Given the description of an element on the screen output the (x, y) to click on. 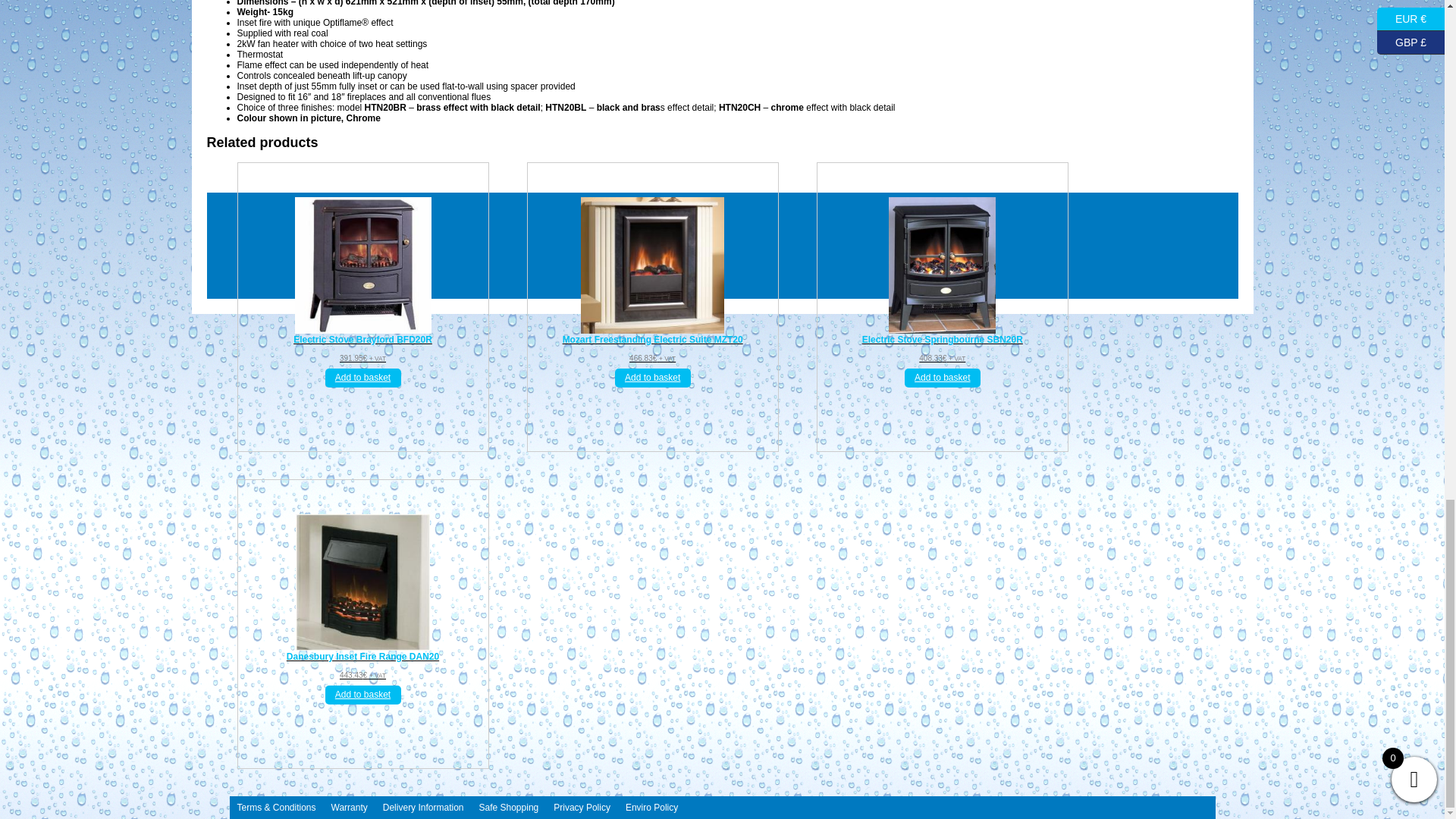
Add to basket (362, 377)
Add to basket (941, 377)
Add to basket (652, 377)
